Given the description of an element on the screen output the (x, y) to click on. 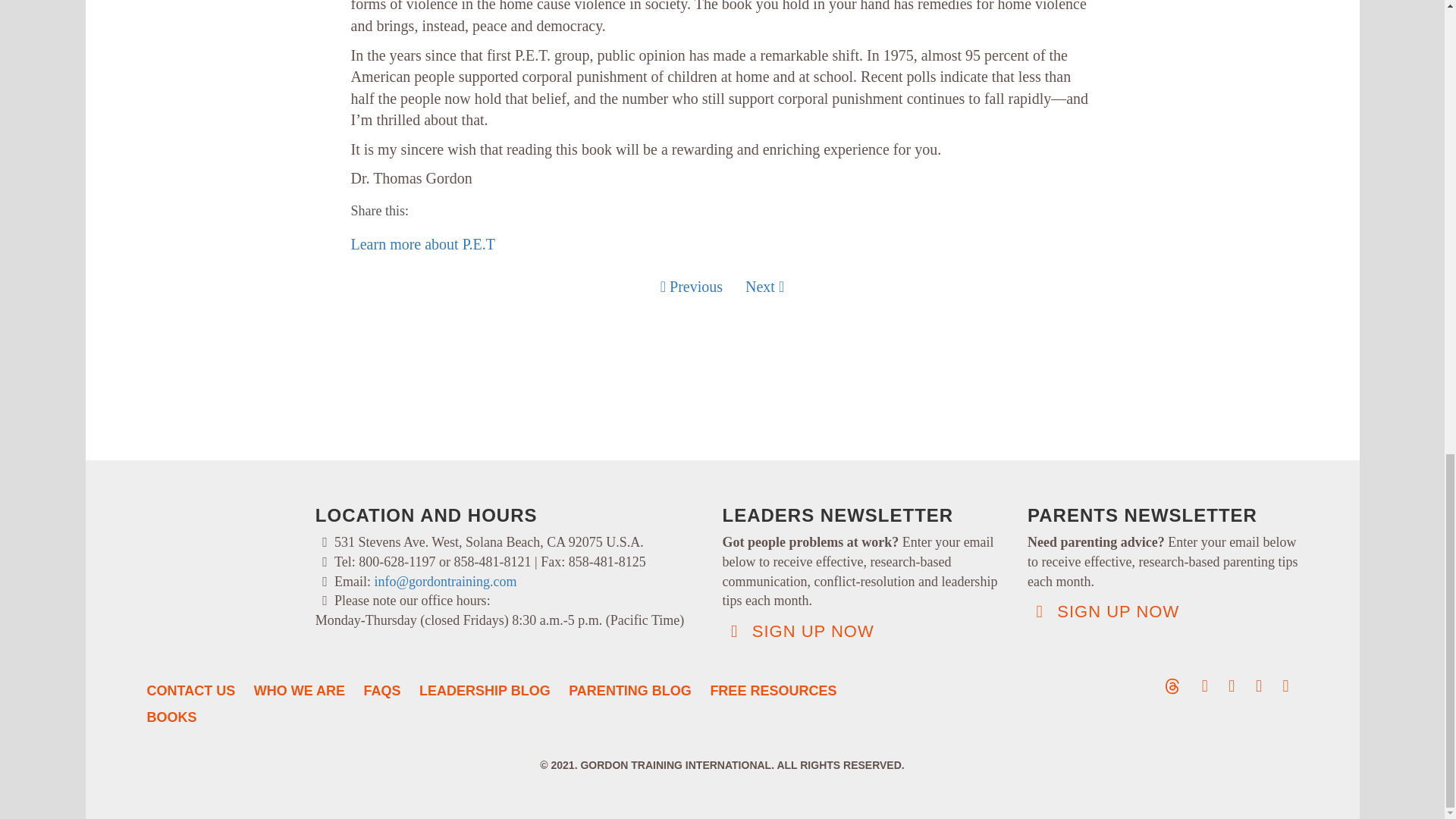
Learn more about P.E.T (422, 243)
